Given the description of an element on the screen output the (x, y) to click on. 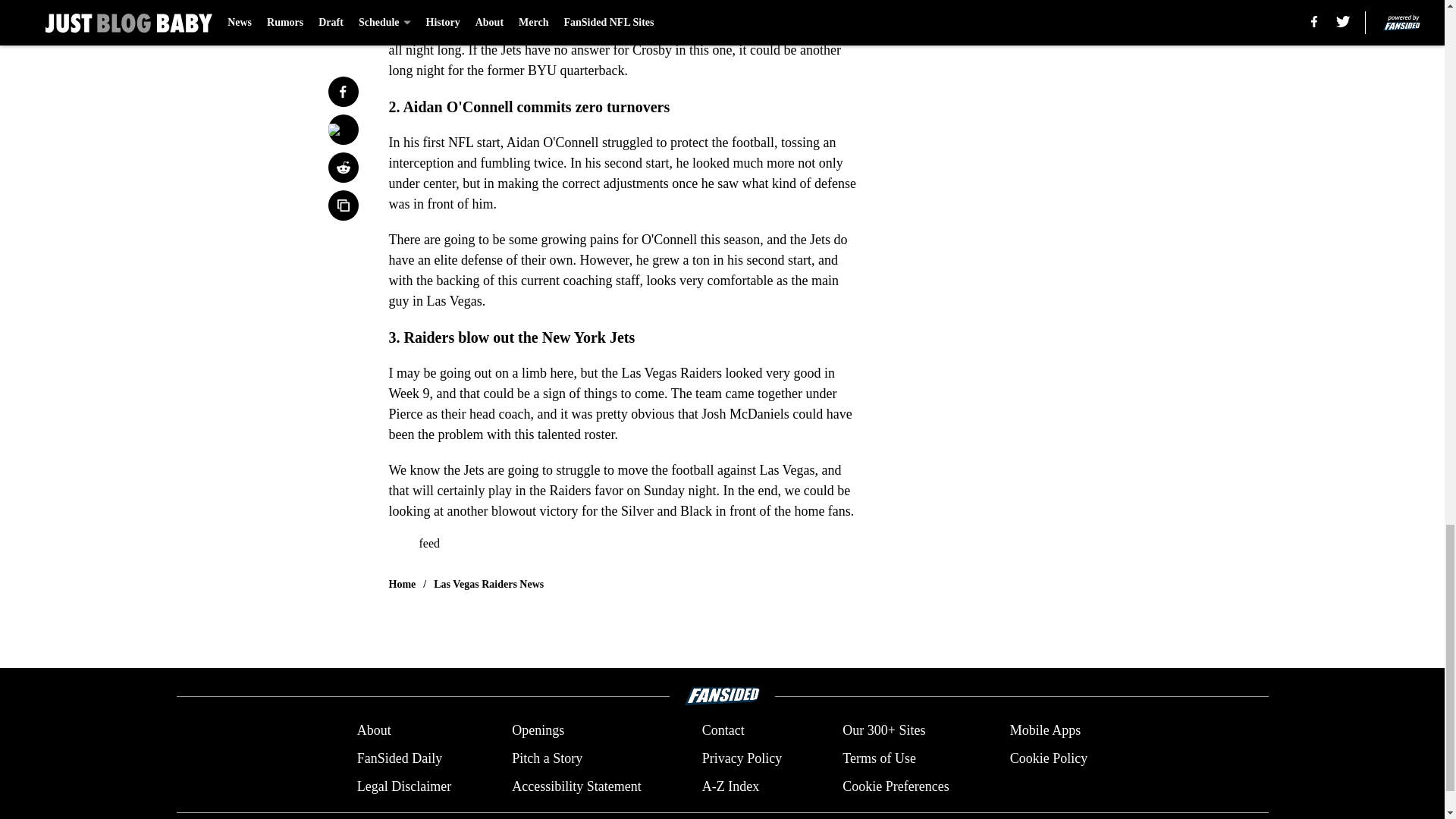
Home (401, 584)
Cookie Preferences (896, 786)
A-Z Index (729, 786)
Pitch a Story (547, 758)
Legal Disclaimer (403, 786)
Accessibility Statement (576, 786)
Privacy Policy (742, 758)
About (373, 730)
FanSided Daily (399, 758)
Las Vegas Raiders News (488, 584)
